Given the description of an element on the screen output the (x, y) to click on. 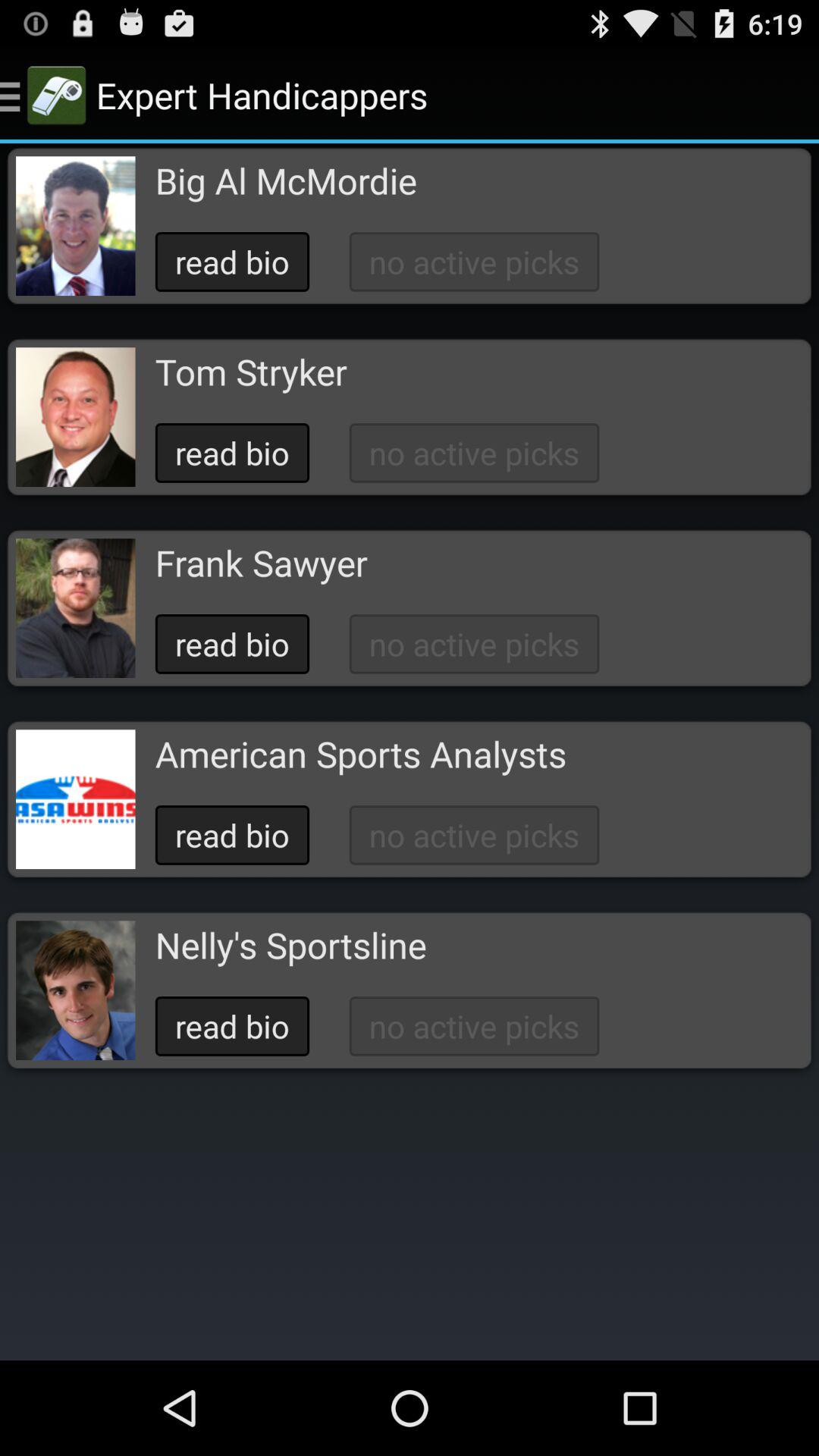
swipe until the nelly's sportsline icon (290, 944)
